Given the description of an element on the screen output the (x, y) to click on. 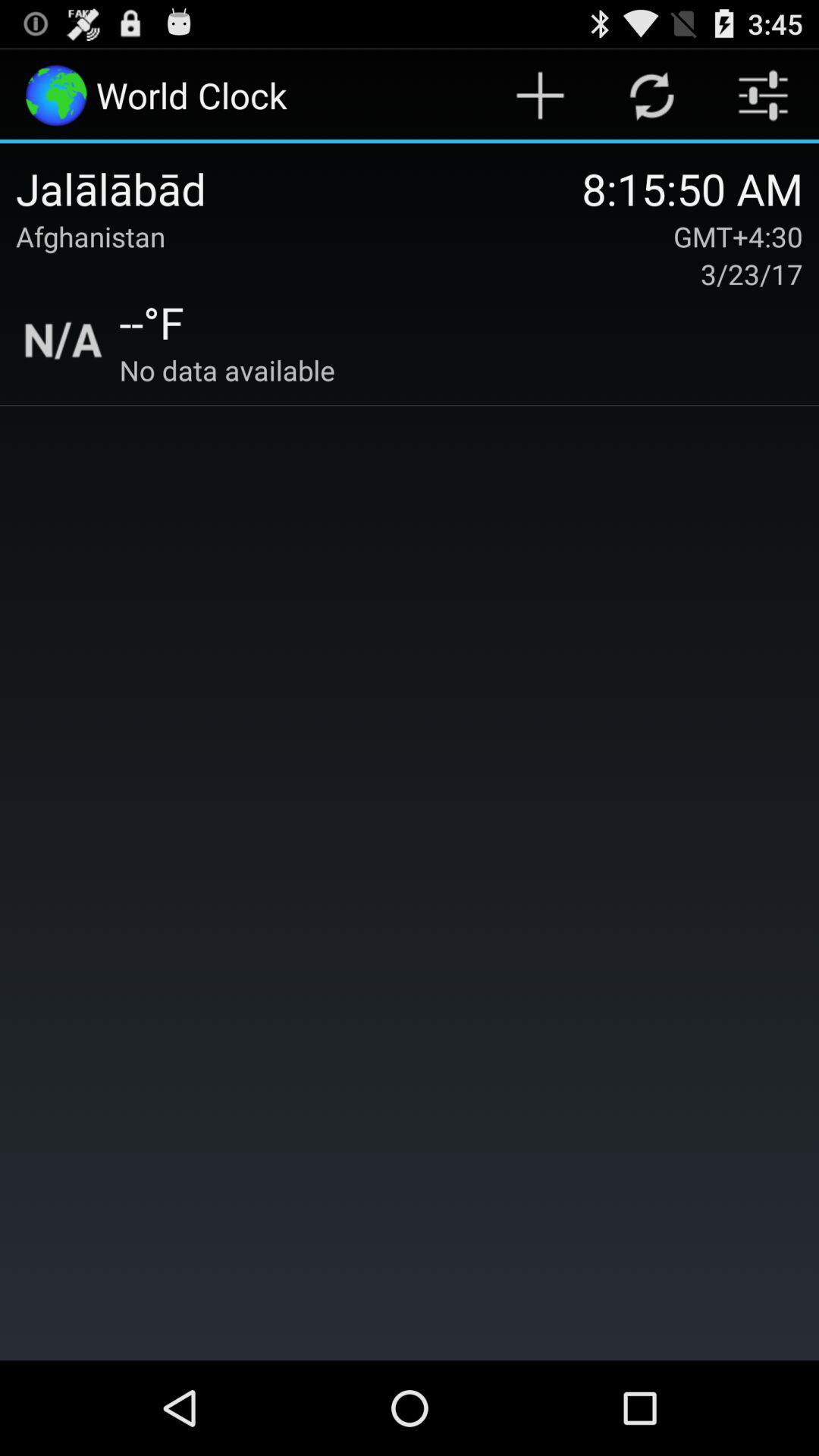
press the item to the left of 3/23/17 app (151, 321)
